Given the description of an element on the screen output the (x, y) to click on. 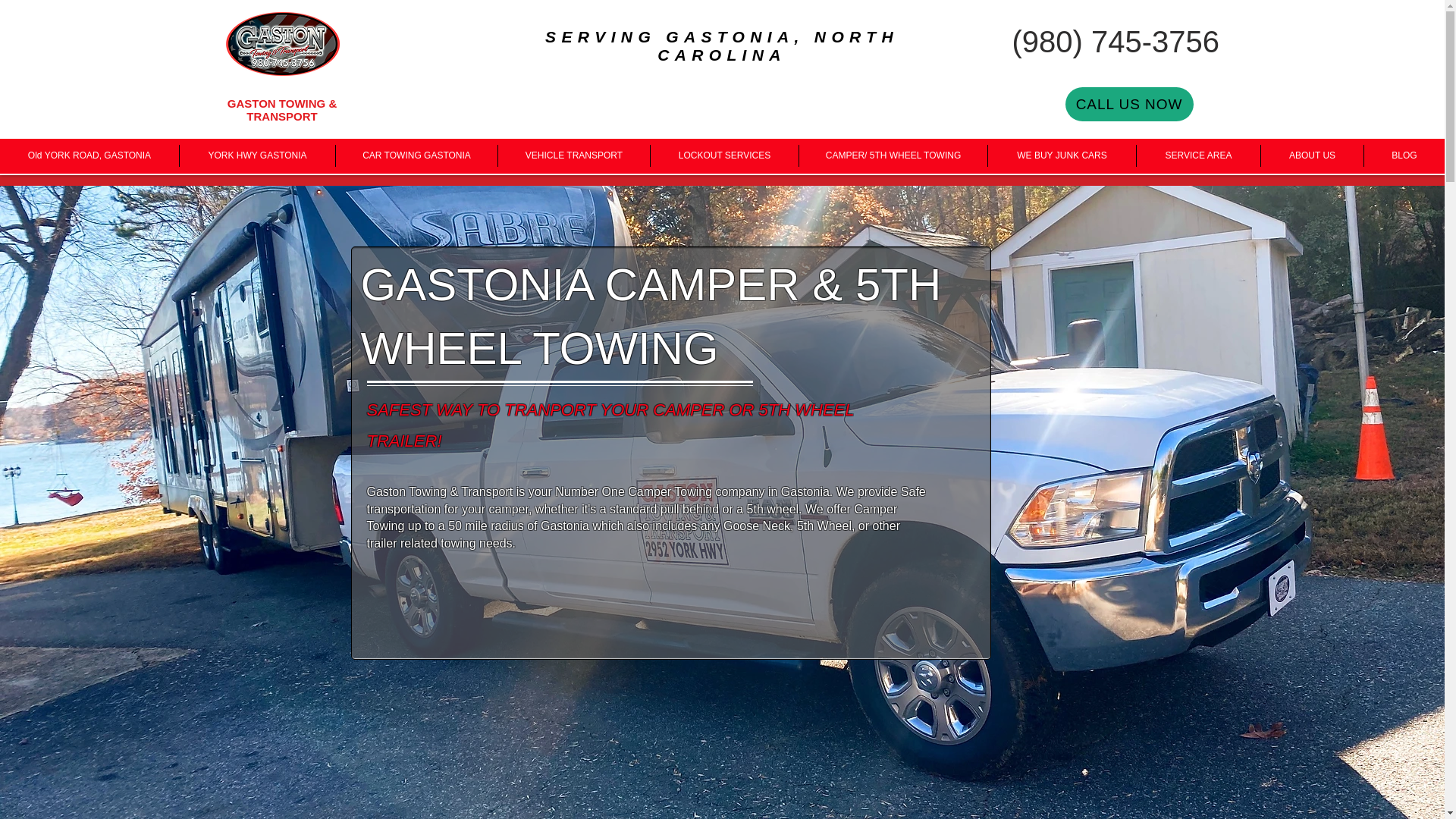
Old YORK ROAD, GASTONIA (89, 155)
SERVING GASTONIA, NORTH CAROLINA (721, 45)
SERVICE AREA (1198, 155)
WE BUY JUNK CARS (1061, 155)
CALL US NOW (1128, 103)
LOCKOUT SERVICES (723, 155)
YORK HWY GASTONIA (256, 155)
VEHICLE TRANSPORT (573, 155)
CAR TOWING GASTONIA (416, 155)
ABOUT US (1311, 155)
